Given the description of an element on the screen output the (x, y) to click on. 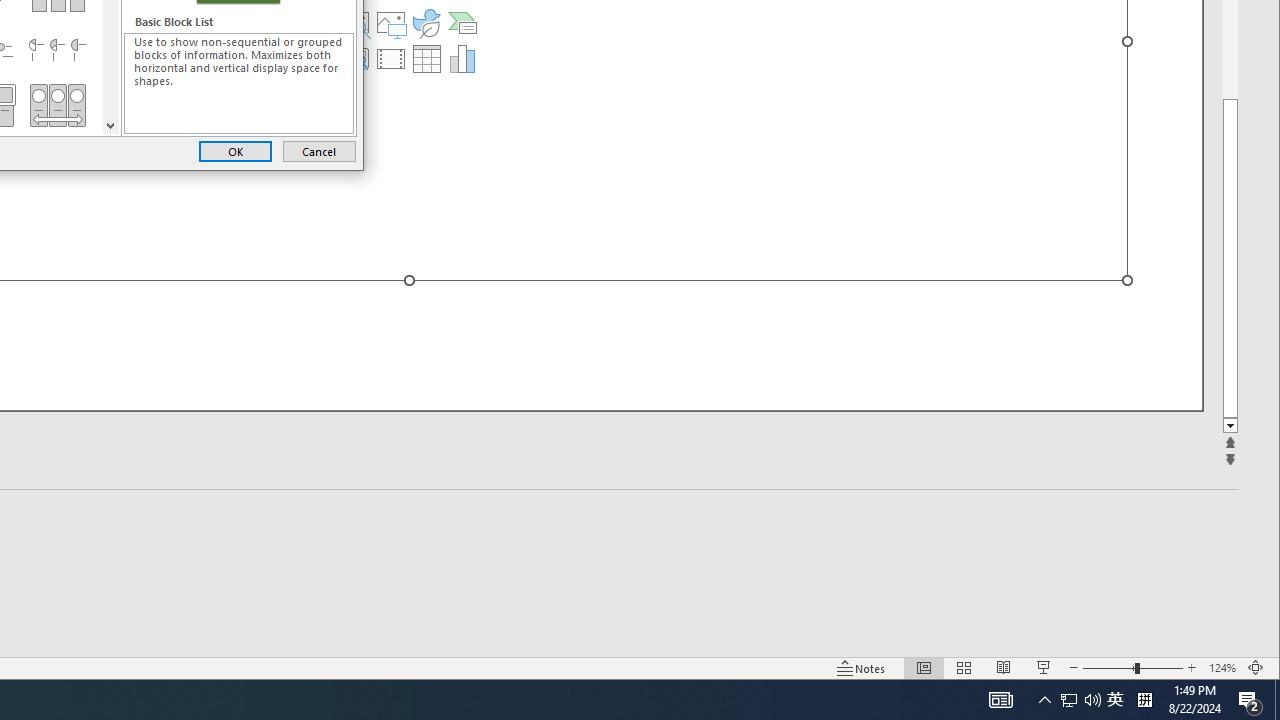
Insert a SmartArt Graphic (462, 22)
Insert an Icon (426, 22)
Continuous Picture List (57, 105)
Pictures (391, 22)
Zoom 124% (1222, 668)
Pie Process (57, 49)
